Given the description of an element on the screen output the (x, y) to click on. 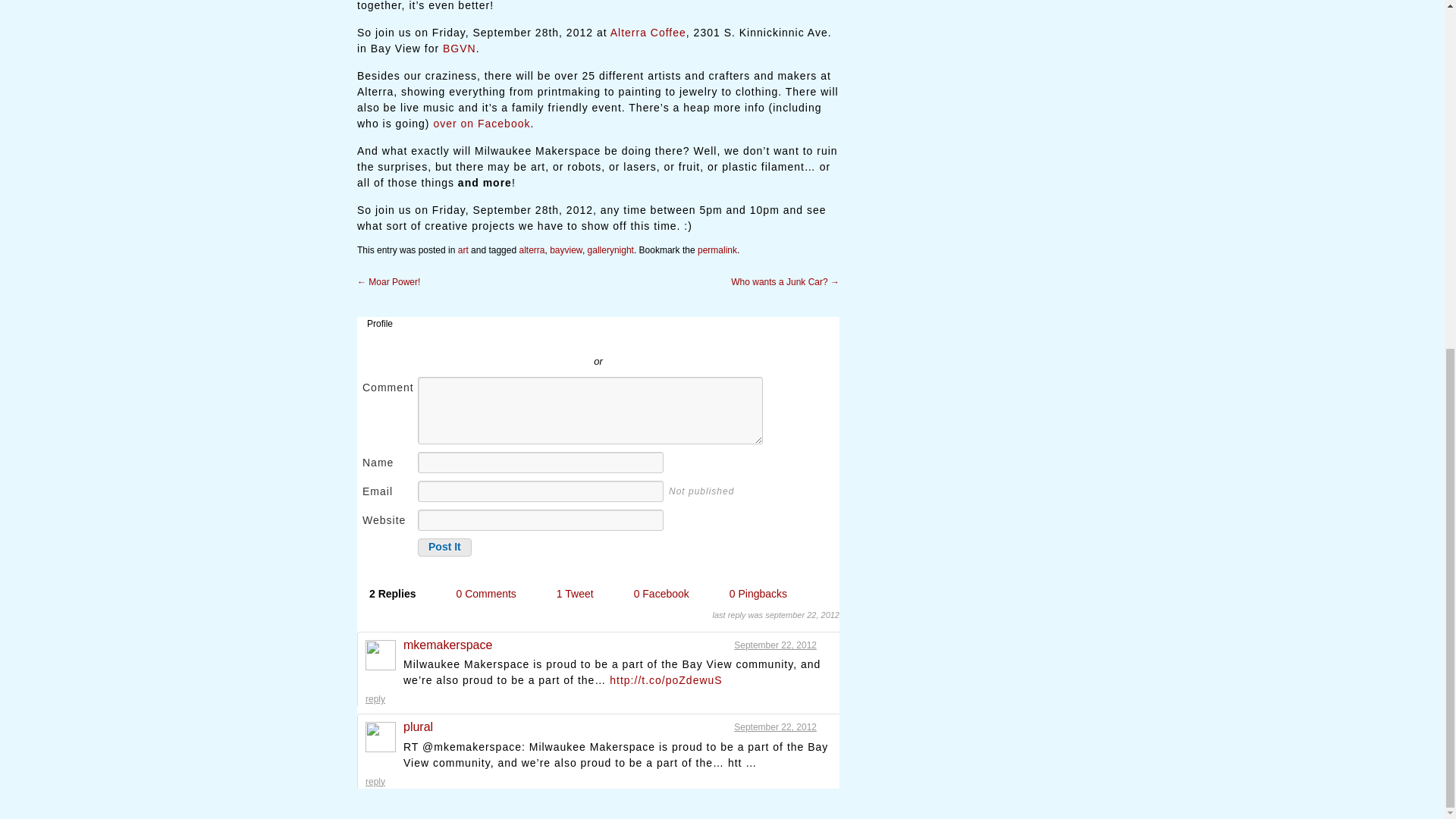
Alterra Coffee (647, 32)
View on Twitter (825, 645)
over on Facebook (480, 123)
BGVN (459, 48)
bayview (566, 249)
Sign in with Twitter (529, 338)
Post It (444, 547)
gallerynight (610, 249)
art (463, 249)
2 Replies (393, 594)
